Given the description of an element on the screen output the (x, y) to click on. 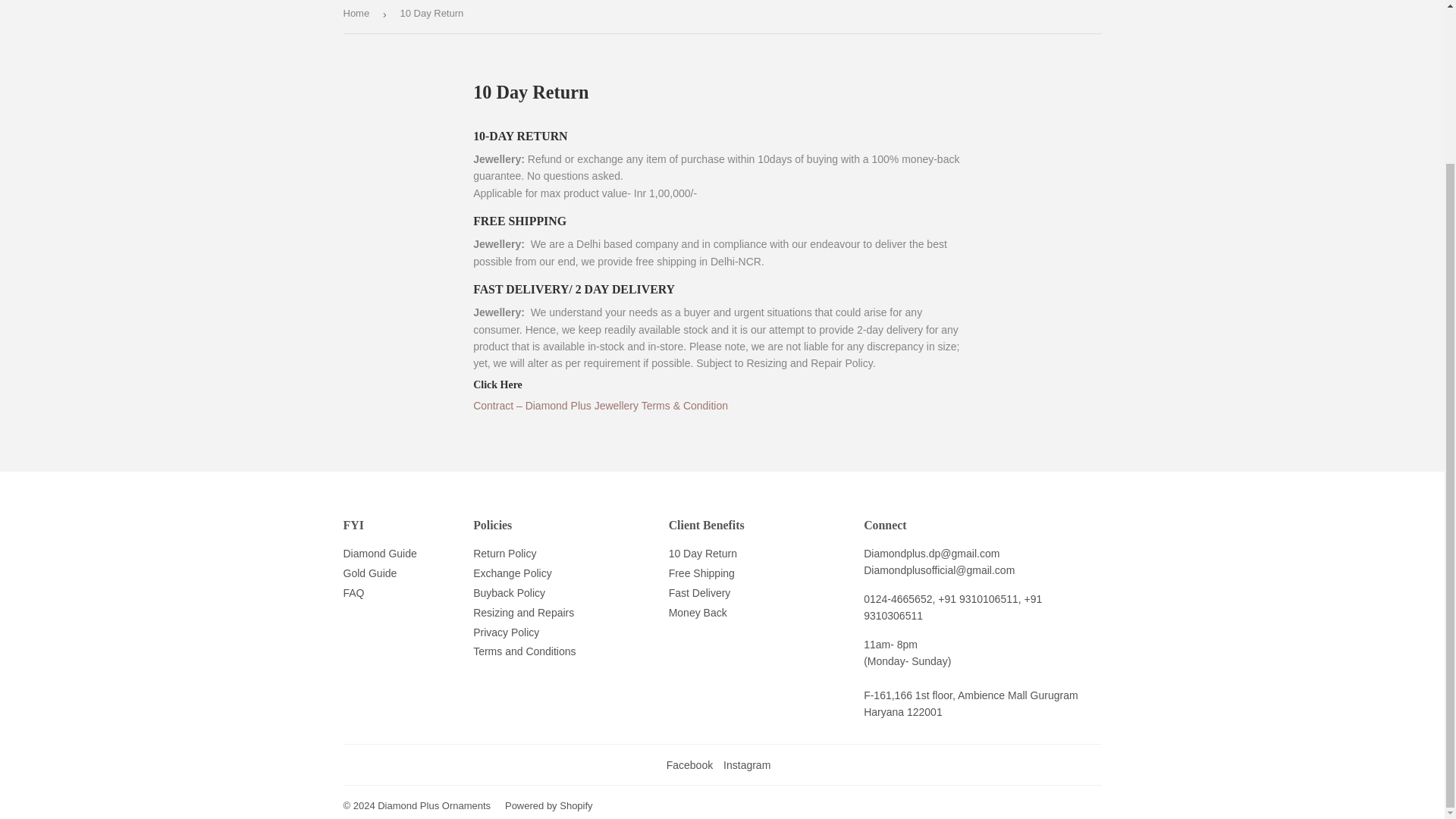
Diamond Plus Ornaments on Instagram (746, 765)
Diamond Plus Ornaments on Facebook (689, 765)
Back to the frontpage (358, 16)
